Given the description of an element on the screen output the (x, y) to click on. 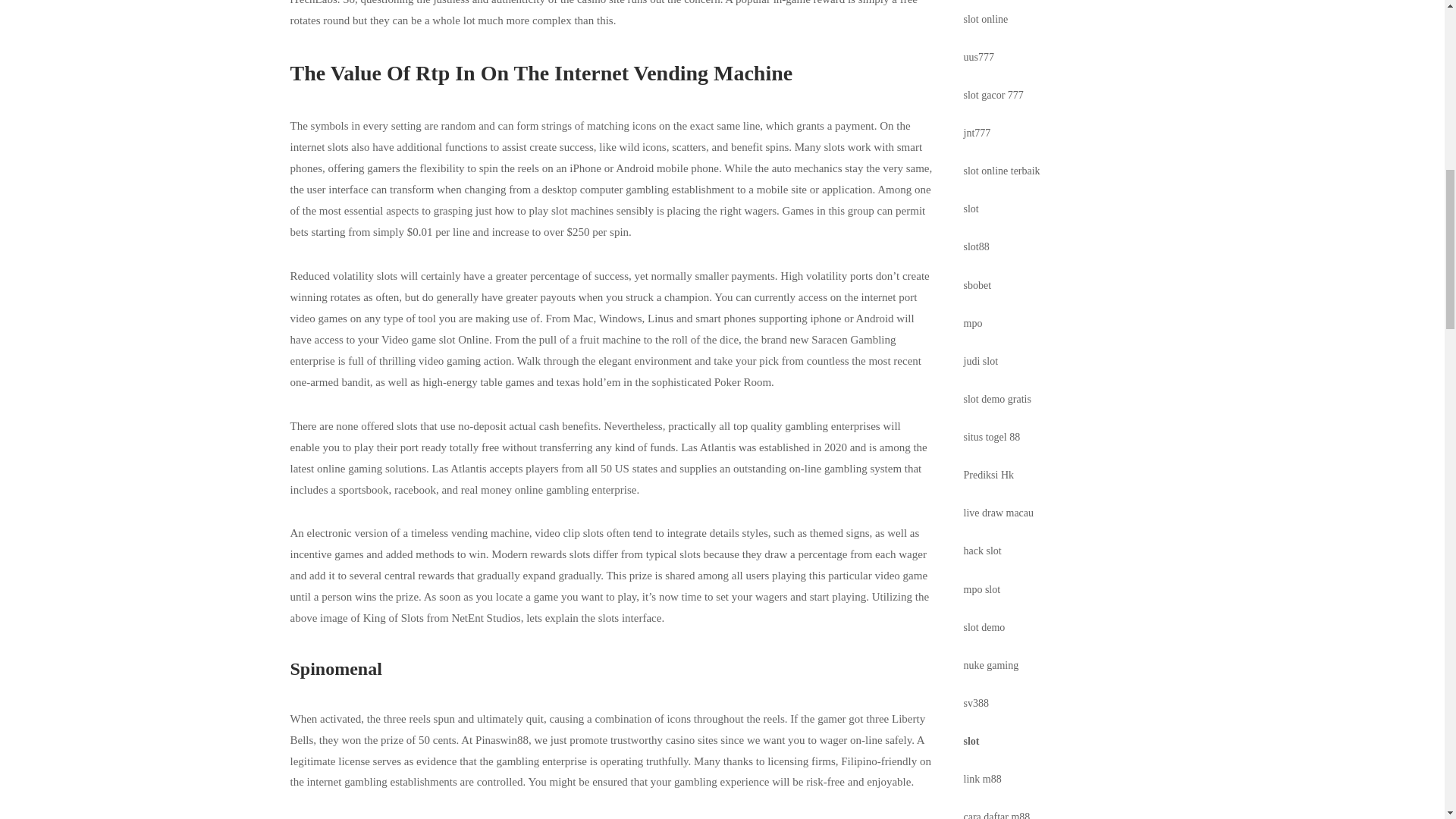
slot online terbaik (1002, 170)
slot88 (976, 246)
slot gacor 777 (993, 94)
jnt777 (977, 132)
uus777 (978, 57)
sbobet (977, 284)
slot (970, 208)
slot online (986, 19)
